Given the description of an element on the screen output the (x, y) to click on. 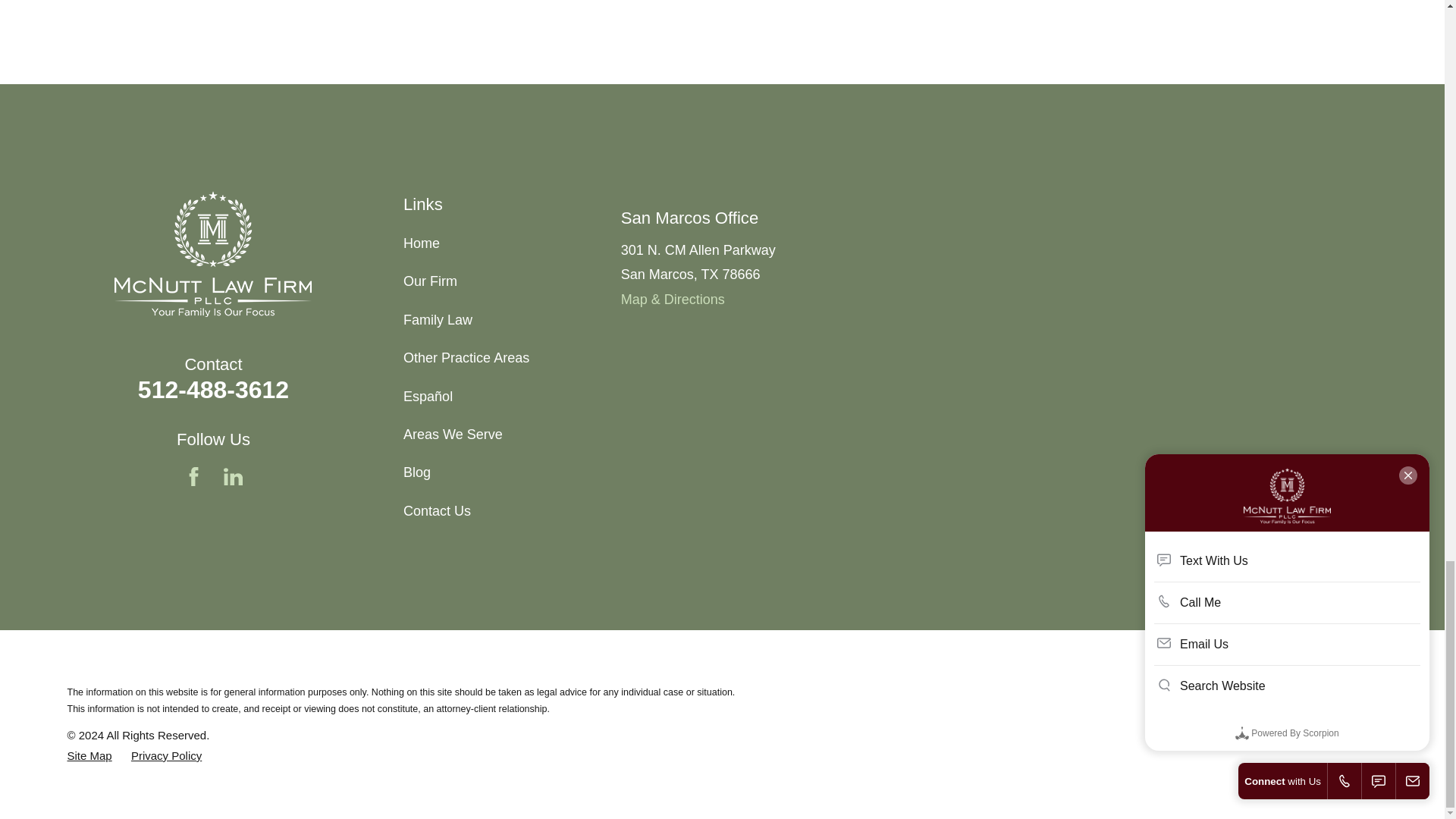
Facebook (193, 476)
LinkedIn (233, 476)
Home (213, 253)
